Given the description of an element on the screen output the (x, y) to click on. 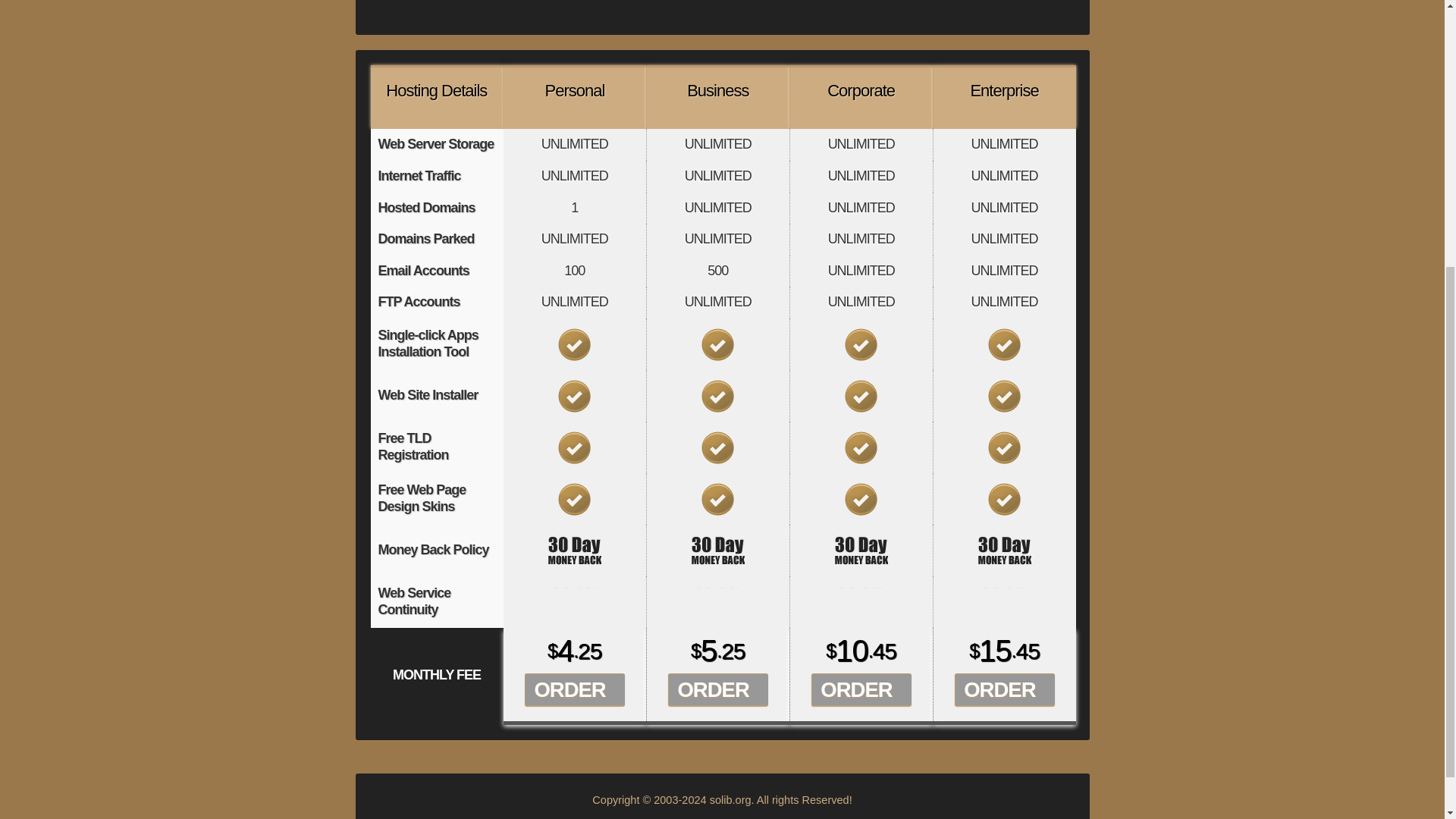
Submit a Domain Name Search (628, 6)
ORDER (855, 689)
solib.org (730, 799)
ORDER (713, 689)
Search (628, 6)
ORDER (999, 689)
ORDER (568, 689)
